Given the description of an element on the screen output the (x, y) to click on. 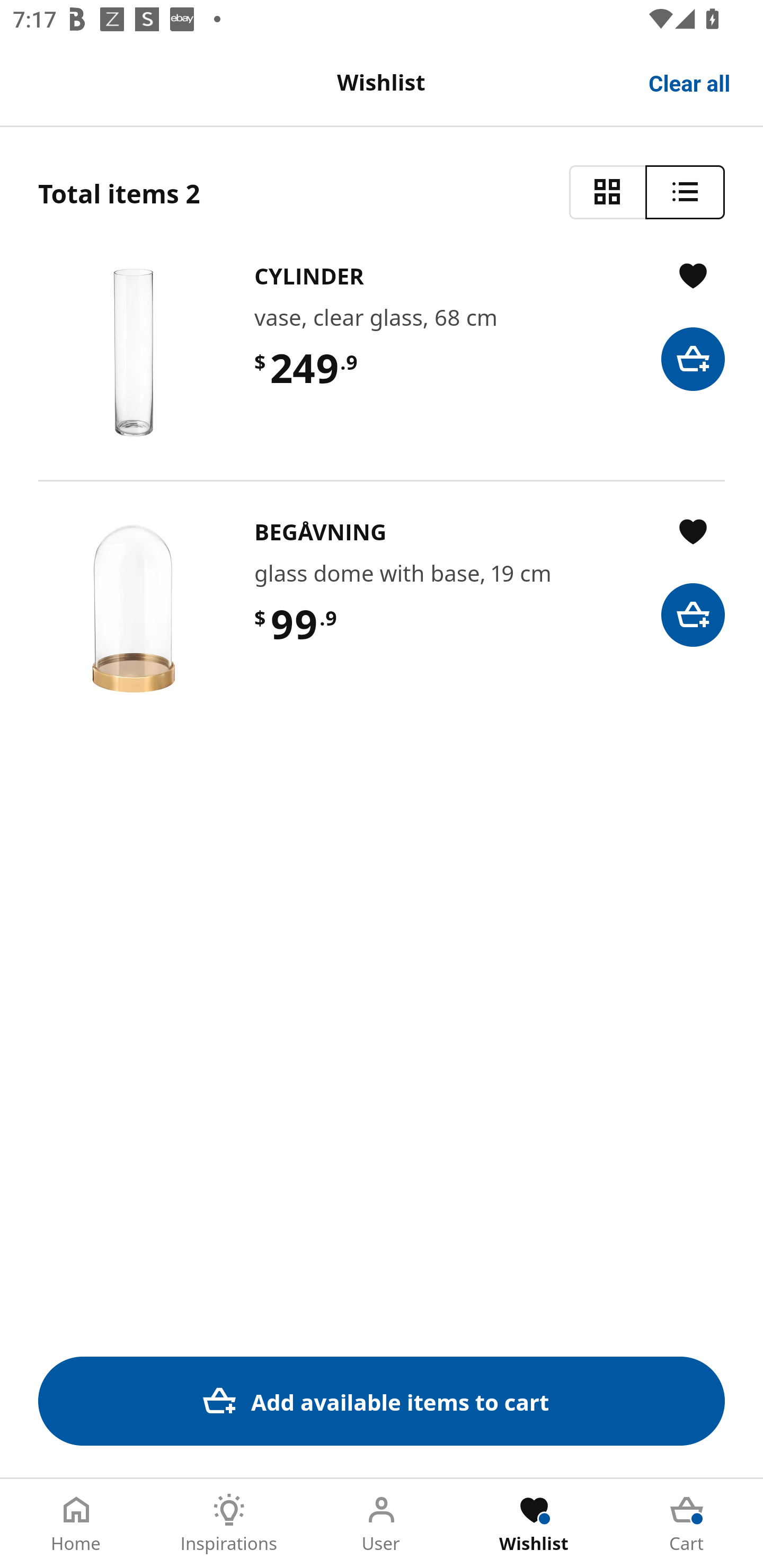
Clear all (689, 81)
Add available items to cart (381, 1400)
Home
Tab 1 of 5 (76, 1522)
Inspirations
Tab 2 of 5 (228, 1522)
User
Tab 3 of 5 (381, 1522)
Wishlist
Tab 4 of 5 (533, 1522)
Cart
Tab 5 of 5 (686, 1522)
